Given the description of an element on the screen output the (x, y) to click on. 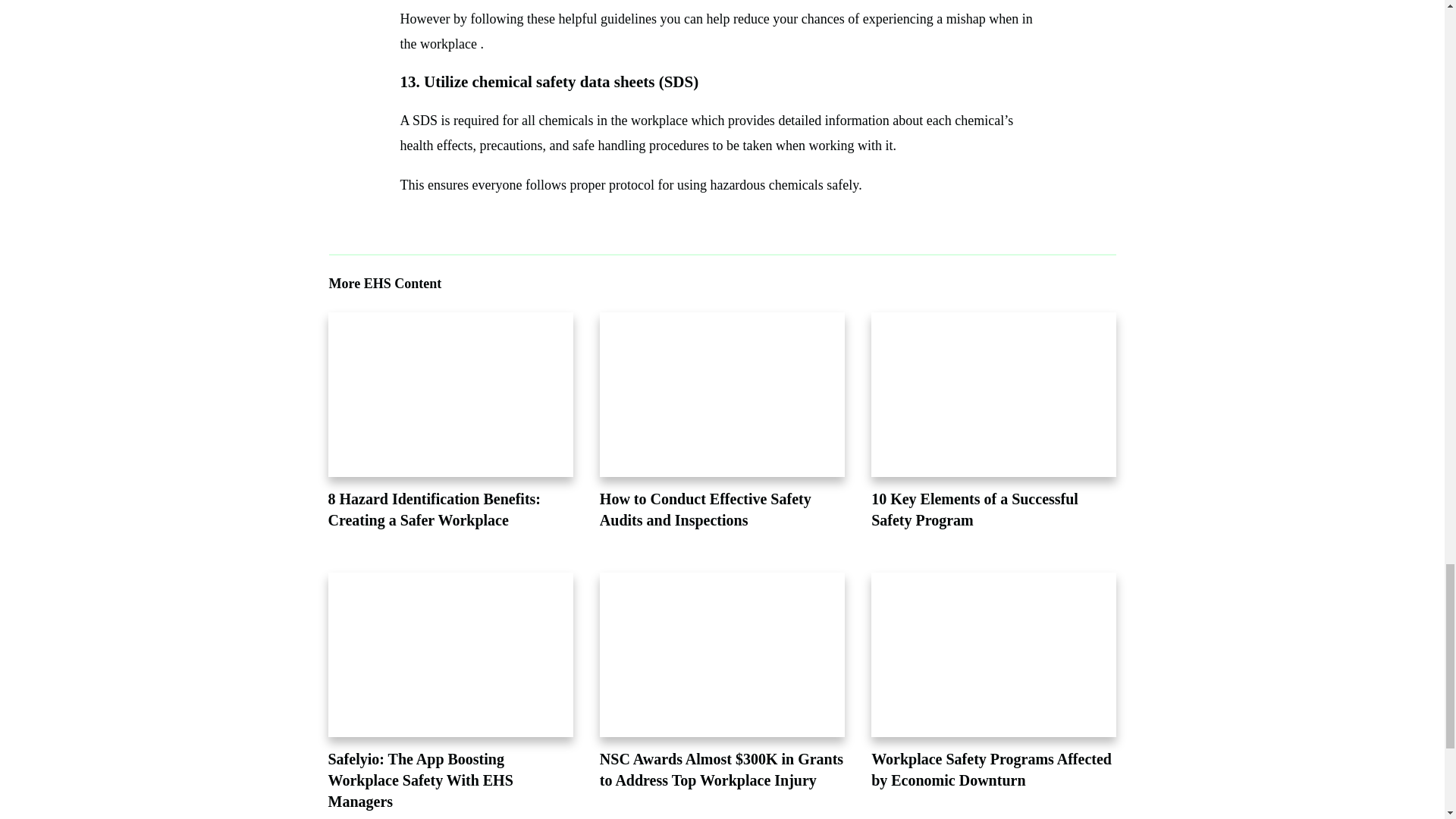
How to Conduct Effective Safety Audits and Inspections (704, 509)
8 Hazard Identification Benefits: Creating a Safer Workplace (433, 509)
How to Conduct Effective Safety Audits and Inspections (704, 509)
10 Key Elements of a Successful Safety Program (974, 509)
Workplace Safety Programs Affected by Economic Downturn (991, 769)
8 Hazard Identification Benefits: Creating a Safer Workplace (433, 509)
10 Key Elements of a Successful Safety Program (974, 509)
Workplace Safety Programs Affected by Economic Downturn (991, 769)
